Given the description of an element on the screen output the (x, y) to click on. 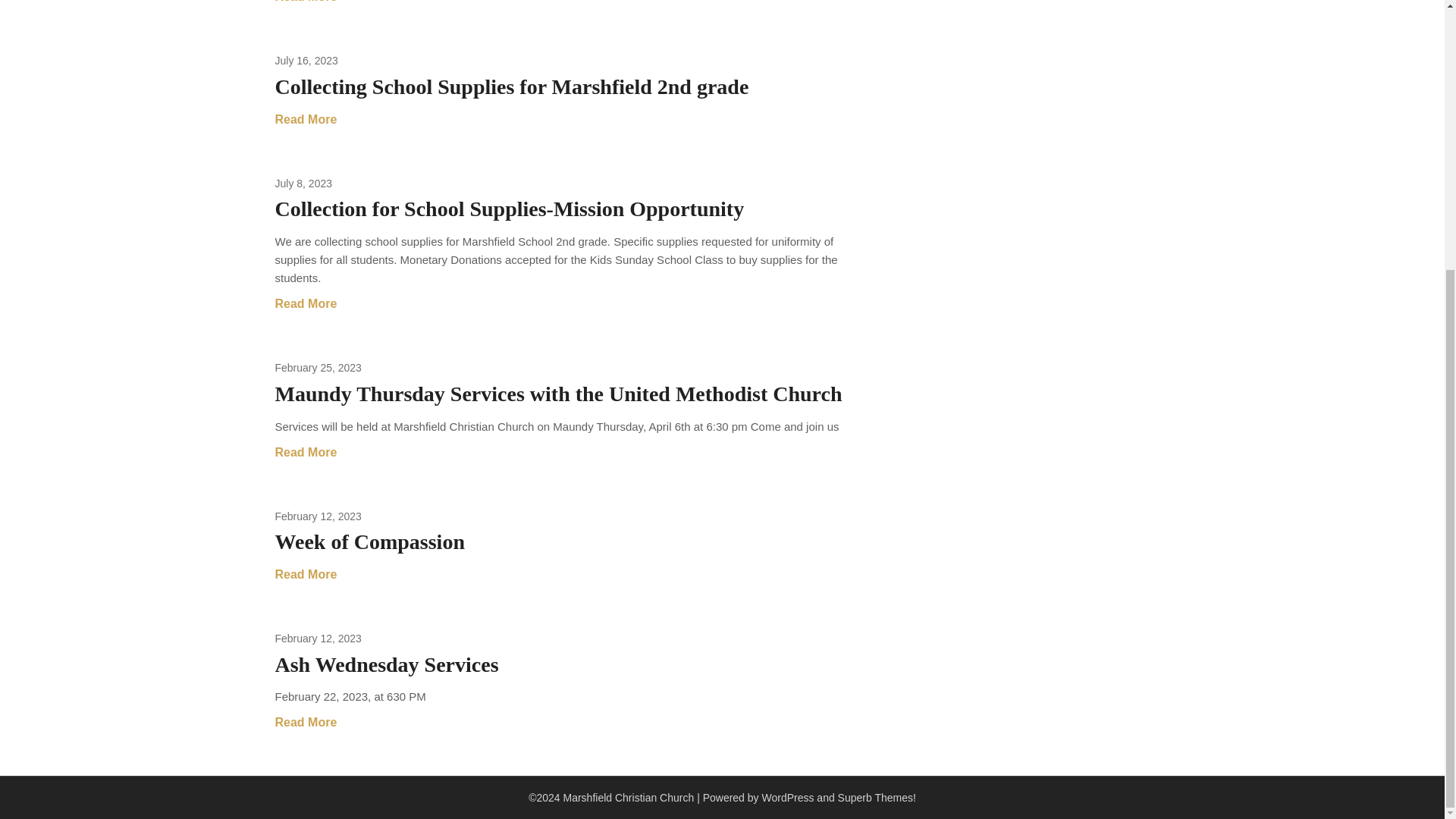
July 16, 2023 (306, 60)
February 25, 2023 (318, 367)
Ash Wednesday Services (386, 664)
Read More (305, 119)
Superb Themes! (876, 797)
Collecting School Supplies for Marshfield 2nd grade (511, 86)
Maundy Thursday Services with the United Methodist Church (558, 393)
Collection for School Supplies-Mission Opportunity (509, 208)
Read More (305, 452)
Read More (305, 574)
